Given the description of an element on the screen output the (x, y) to click on. 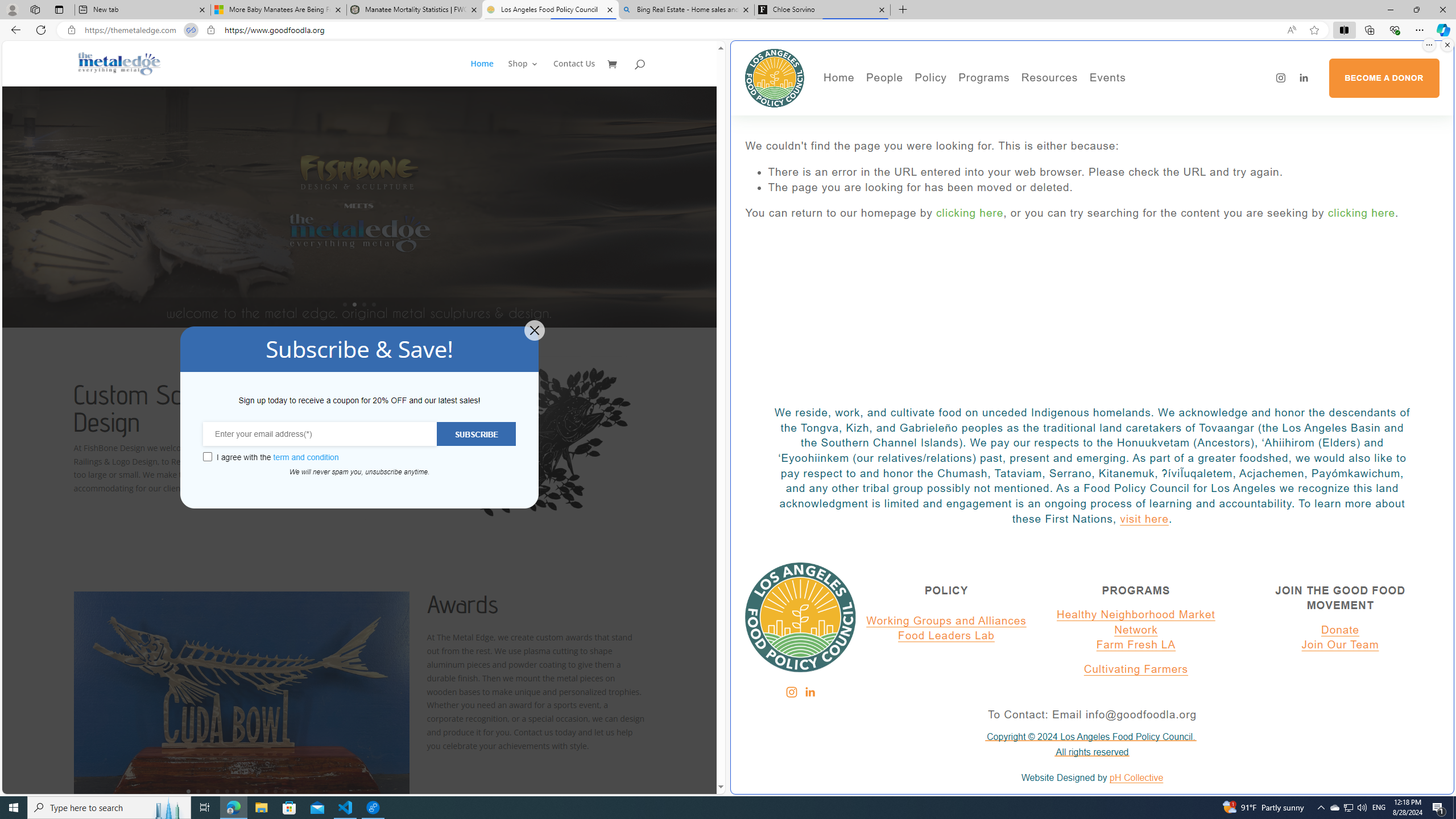
Programs (984, 77)
Good Food Zones (1093, 99)
2 (198, 790)
1 (188, 790)
Class: sqs-svg-icon--social (809, 692)
9 (265, 790)
Manatee Mortality Statistics | FWC (414, 9)
Reports (922, 165)
Los Angeles Food Policy Council (774, 77)
Shop3 (529, 72)
